Given the description of an element on the screen output the (x, y) to click on. 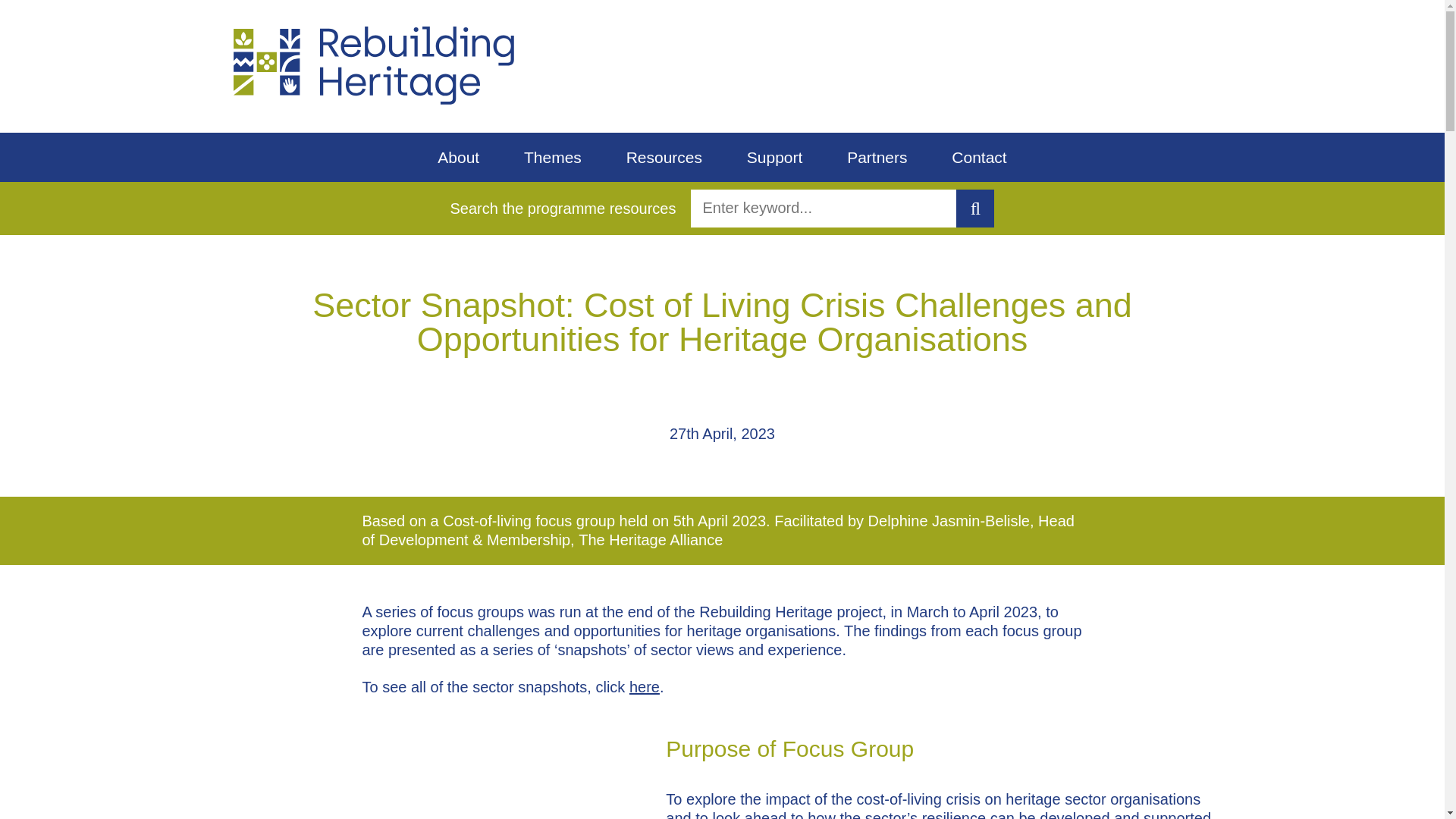
here (643, 686)
Support (774, 157)
Themes (552, 157)
Contact (979, 157)
Resources (663, 157)
Partners (877, 157)
About (458, 157)
